Given the description of an element on the screen output the (x, y) to click on. 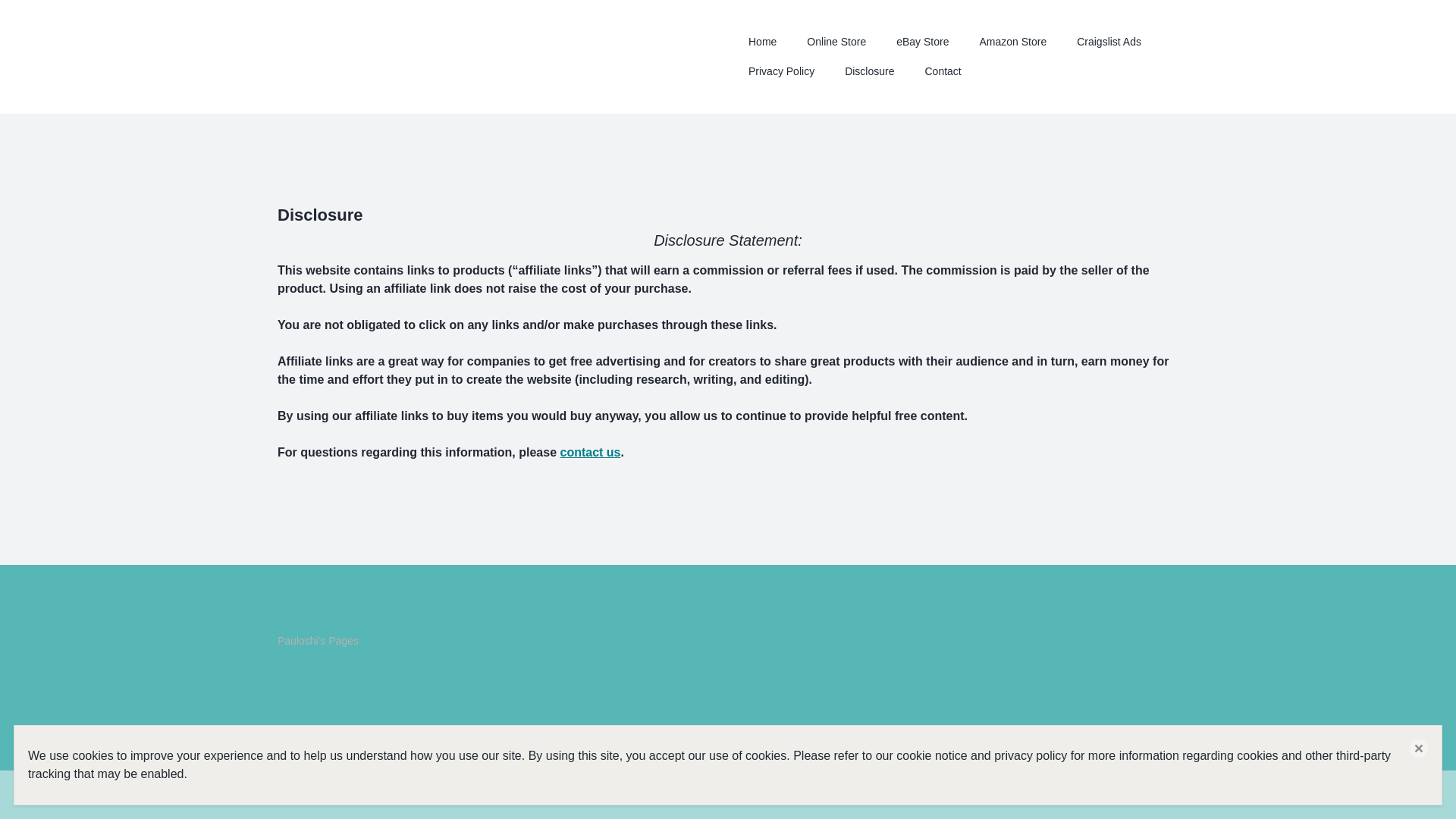
Home (762, 41)
Contact (942, 70)
Online Store (836, 41)
Disclosure (868, 70)
Report Abuse (296, 794)
Amazon Store (1012, 41)
eBay Store (922, 41)
Craigslist Ads (1109, 41)
contact us (589, 451)
Privacy Policy (780, 70)
